Given the description of an element on the screen output the (x, y) to click on. 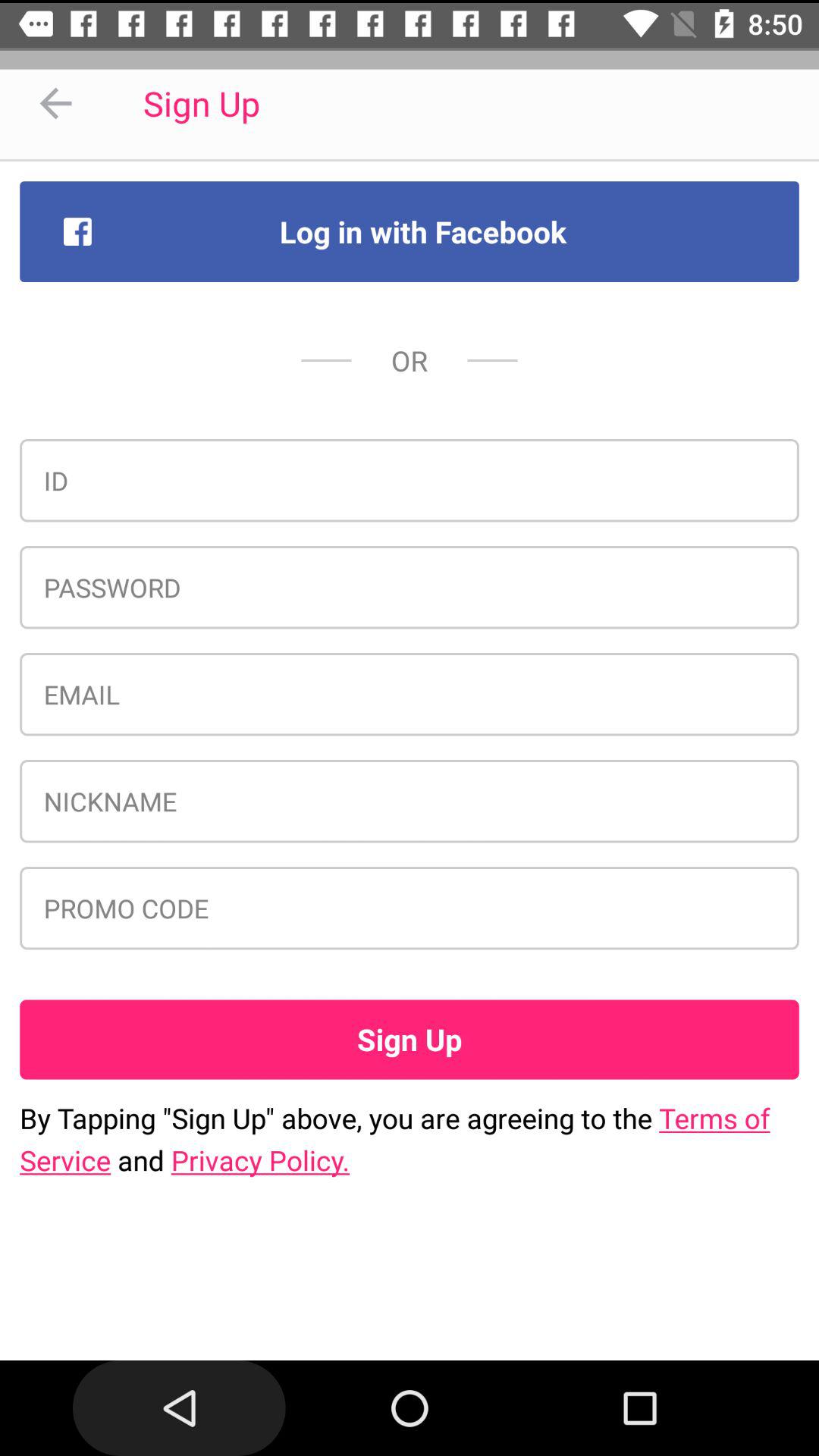
click icon above or icon (409, 231)
